Given the description of an element on the screen output the (x, y) to click on. 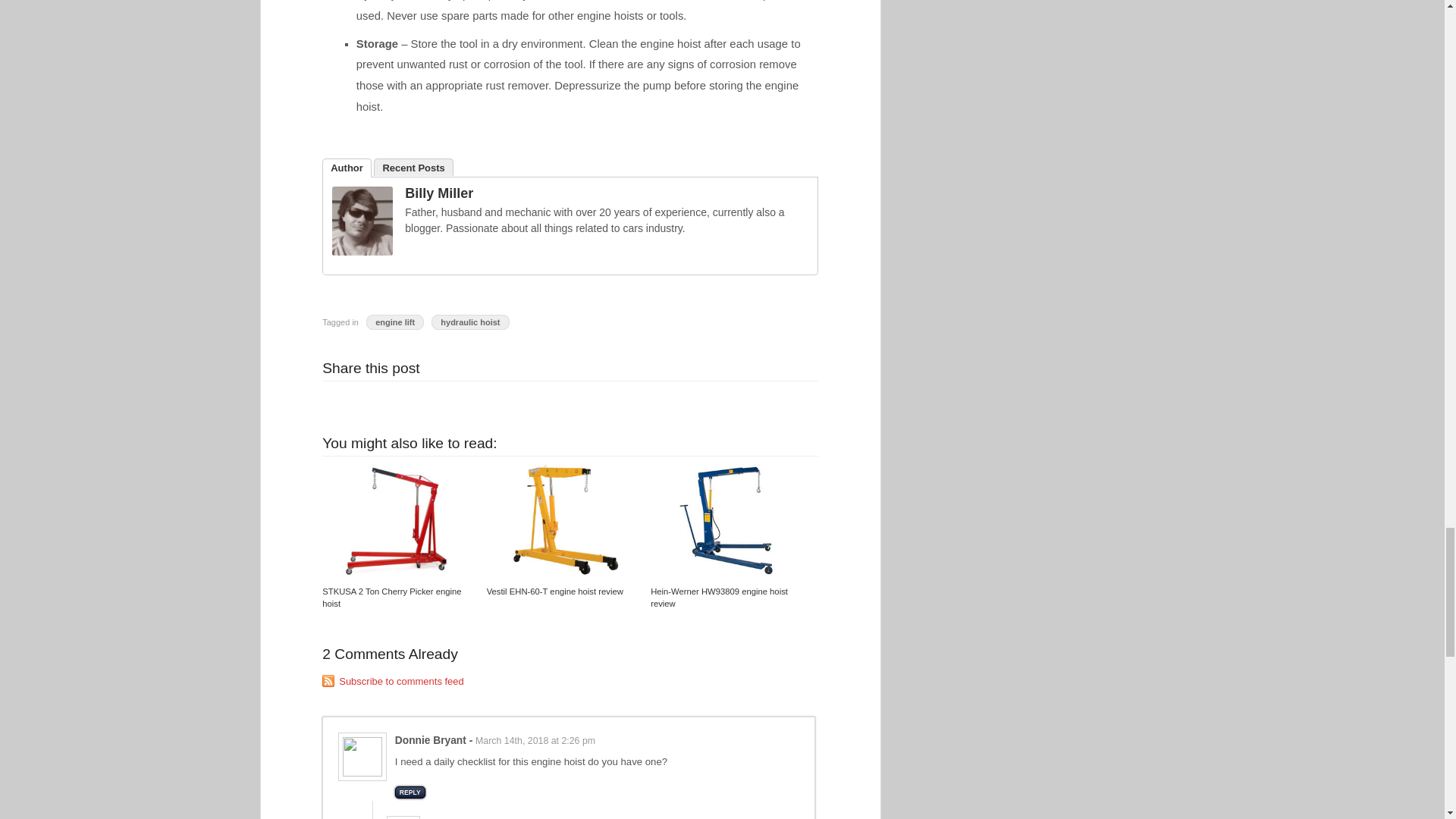
Vestil EHN-60-T engine hoist review (554, 591)
Billy Miller (438, 192)
Billy Miller (362, 251)
Recent Posts (413, 167)
Author (346, 167)
Vestil EHN-60-T engine hoist review (562, 519)
STKUSA 2 Ton Cherry Picker engine hoist (391, 597)
Hein-Werner HW93809 engine hoist review (726, 519)
 Safety rules for using an engine hoist (392, 681)
Hein-Werner HW93809 engine hoist review (718, 597)
STKUSA 2 Ton Cherry Picker engine hoist (397, 519)
